Given the description of an element on the screen output the (x, y) to click on. 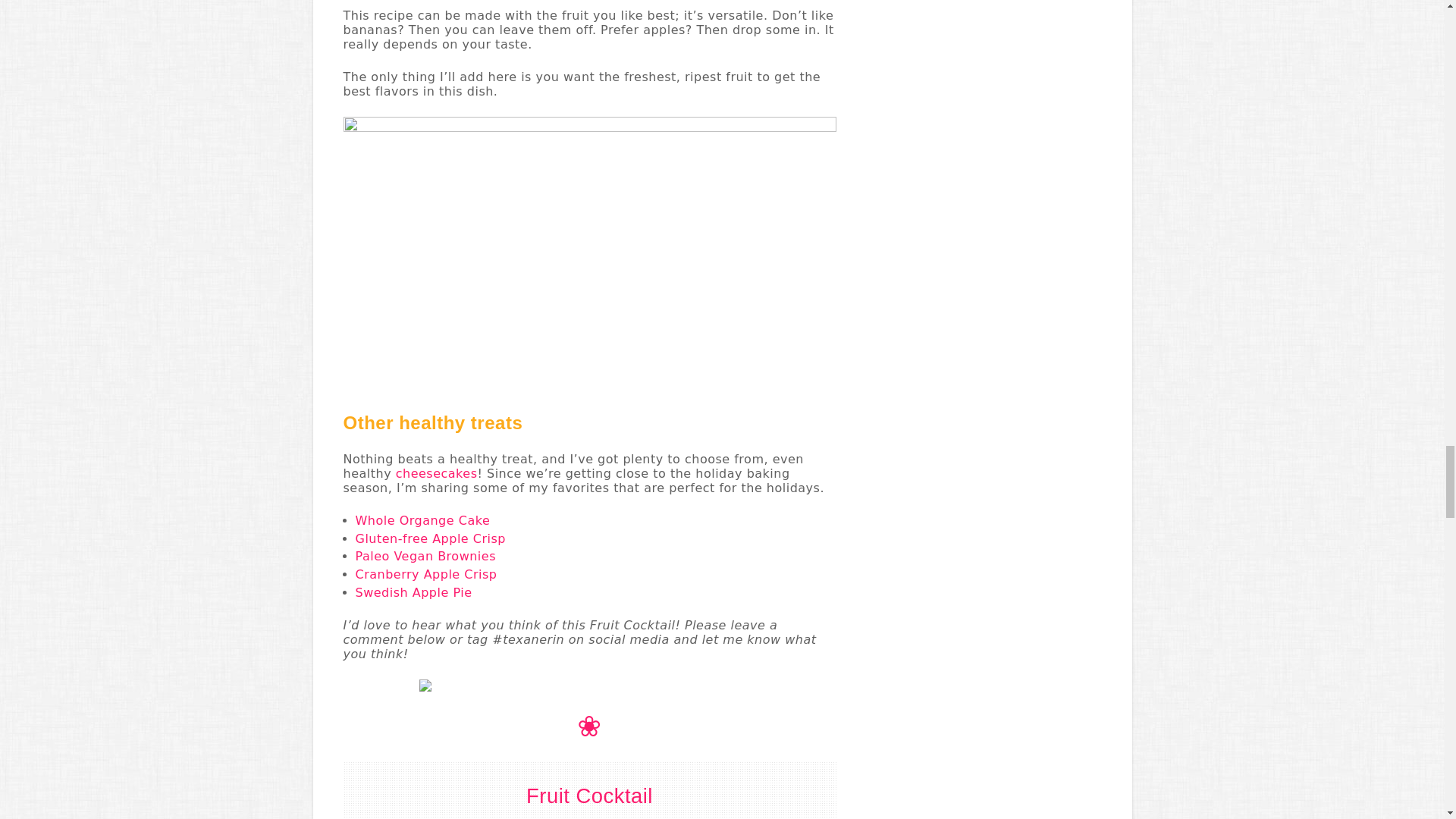
Paleo Vegan Brownies (425, 555)
Gluten-free Apple Crisp (430, 537)
Swedish Apple Pie (413, 592)
Whole Organge Cake (422, 520)
Cranberry Apple Crisp (425, 574)
cheesecakes (436, 473)
